Given the description of an element on the screen output the (x, y) to click on. 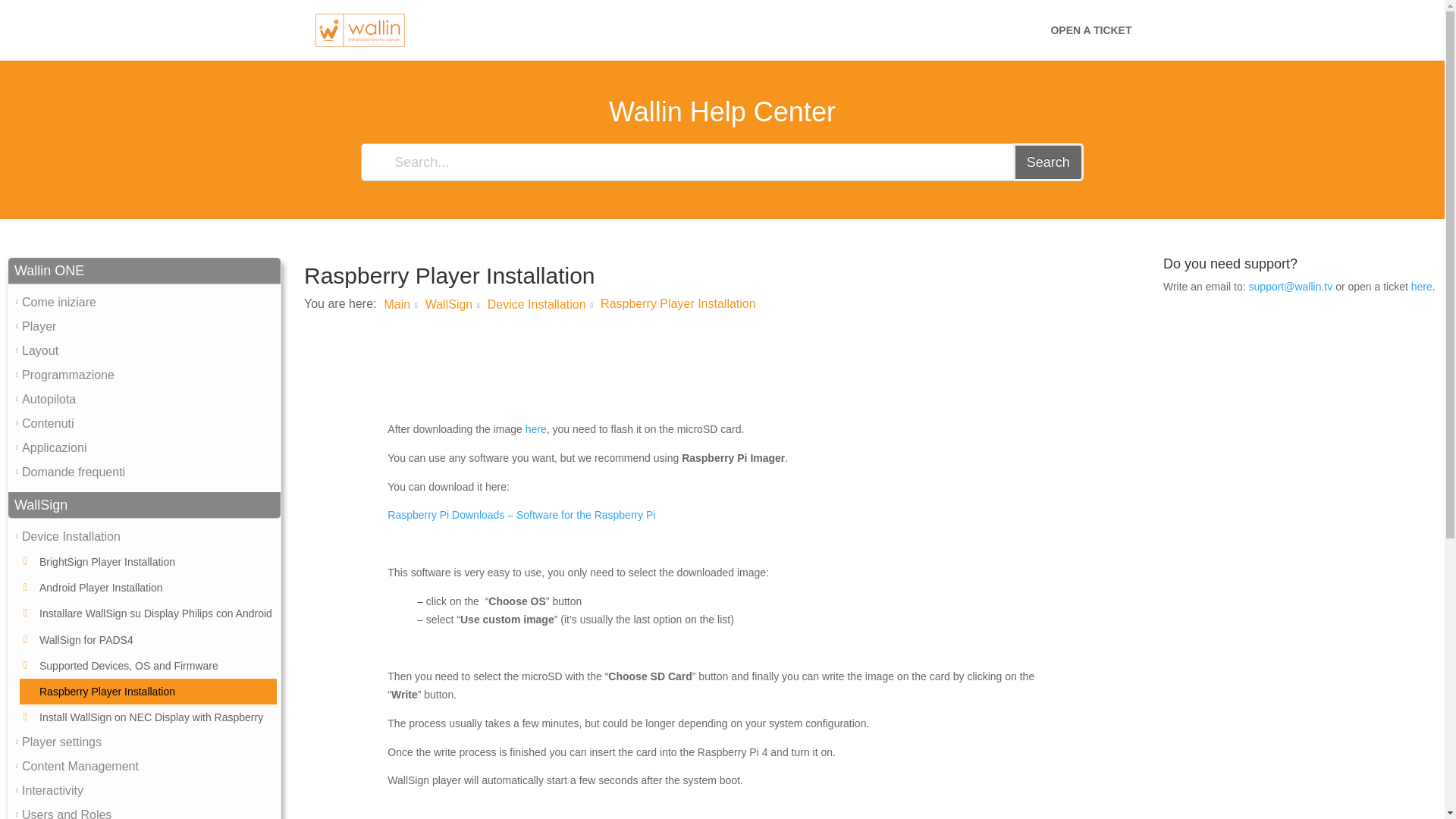
Programmazione (68, 375)
Player (38, 326)
Applicazioni (53, 448)
Layout (39, 350)
Autopilota (48, 399)
OPEN A TICKET (1090, 42)
Come iniziare (58, 302)
Search (1048, 161)
Contenuti (47, 423)
